Given the description of an element on the screen output the (x, y) to click on. 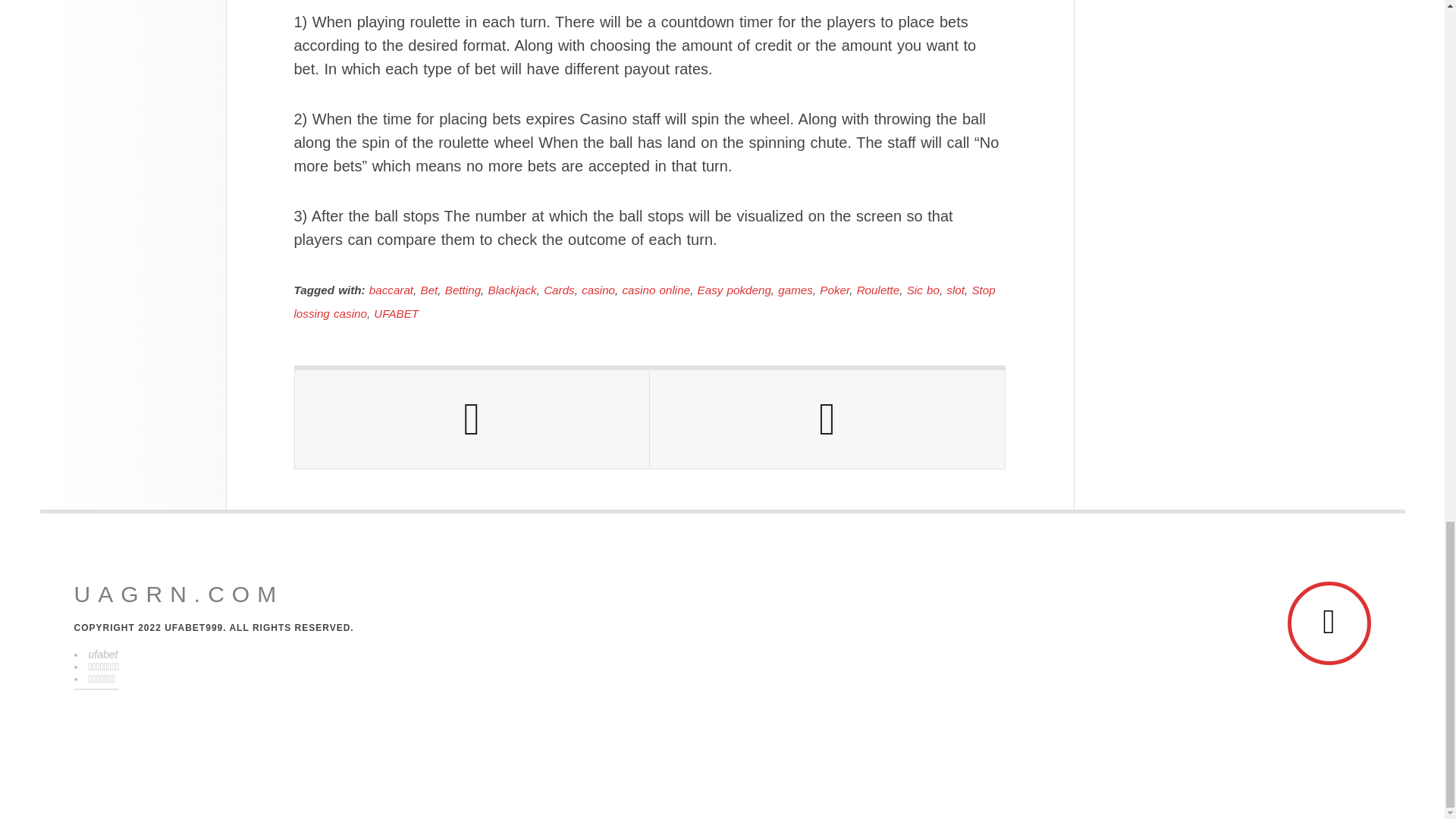
Cards (559, 289)
Next Post (826, 419)
slot (954, 289)
baccarat (391, 289)
Betting (462, 289)
Blackjack (512, 289)
Bet (429, 289)
casino online (655, 289)
games (794, 289)
Easy pokdeng (734, 289)
Stop lossing casino (644, 301)
Previous Post (471, 419)
uagrn.com (178, 594)
Roulette (878, 289)
Poker (833, 289)
